Given the description of an element on the screen output the (x, y) to click on. 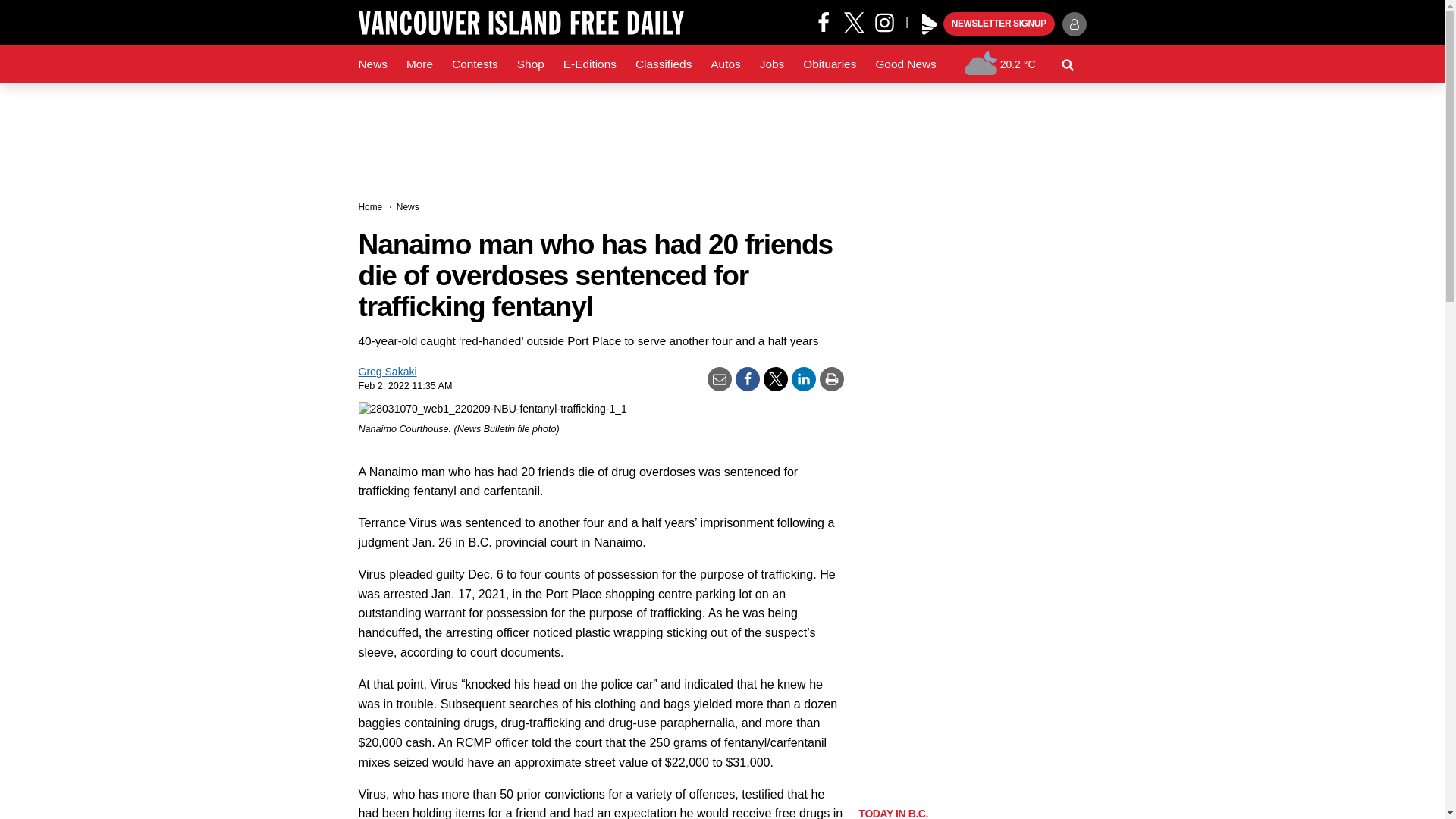
NEWSLETTER SIGNUP (998, 24)
Play (929, 24)
Black Press Media (929, 24)
Facebook (823, 21)
X (853, 21)
Instagram (889, 21)
News (372, 64)
